Given the description of an element on the screen output the (x, y) to click on. 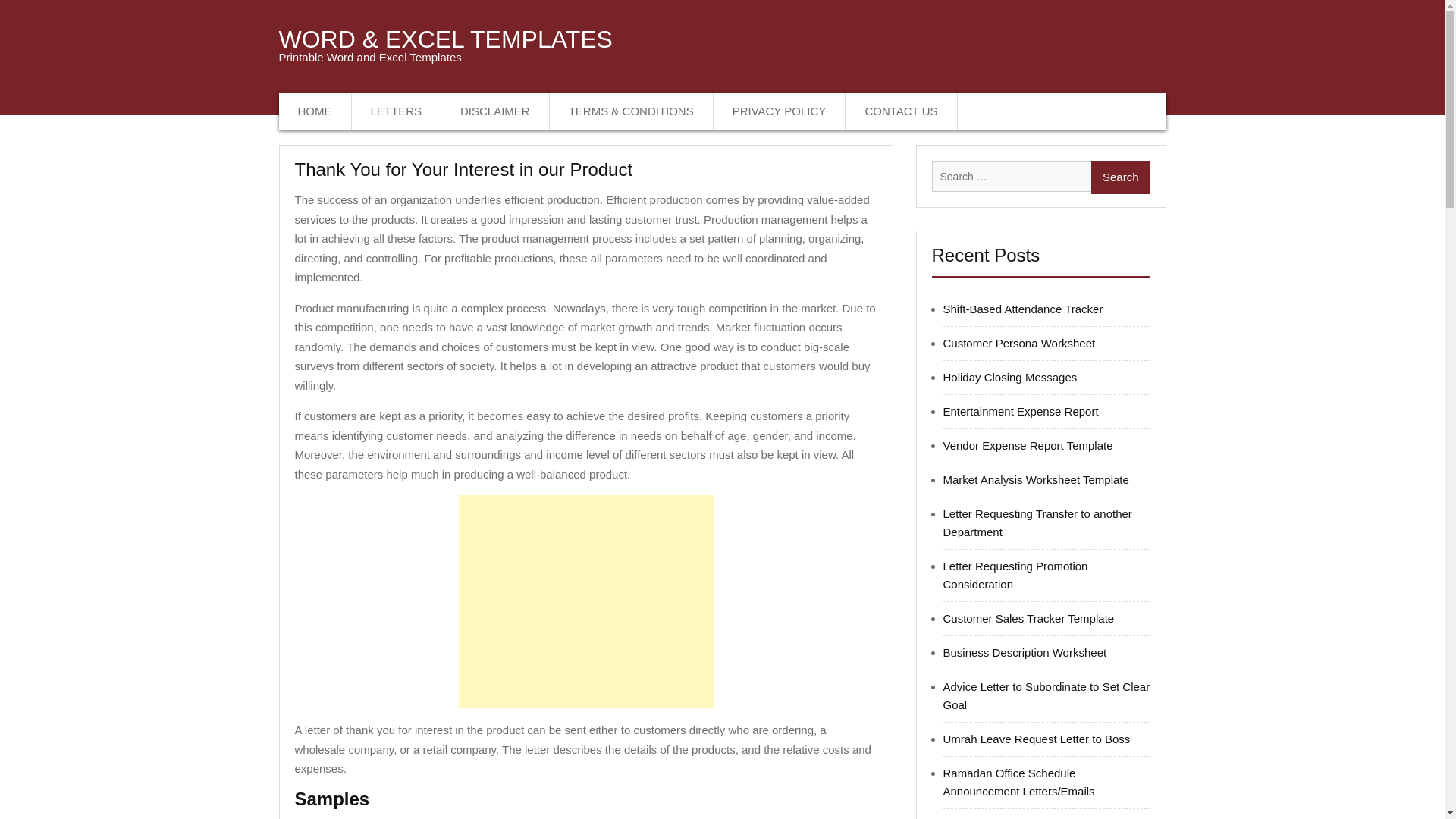
Customer Sales Tracker Template (1029, 617)
Entertainment Expense Report (1021, 410)
Shift-Based Attendance Tracker (1023, 308)
Search (1120, 177)
CONTACT US (900, 111)
Market Analysis Worksheet Template (1036, 479)
PRIVACY POLICY (779, 111)
Letter Requesting Promotion Consideration (1015, 574)
Business Description Worksheet (1024, 652)
Umrah Leave Request Letter to Boss (1037, 738)
